Given the description of an element on the screen output the (x, y) to click on. 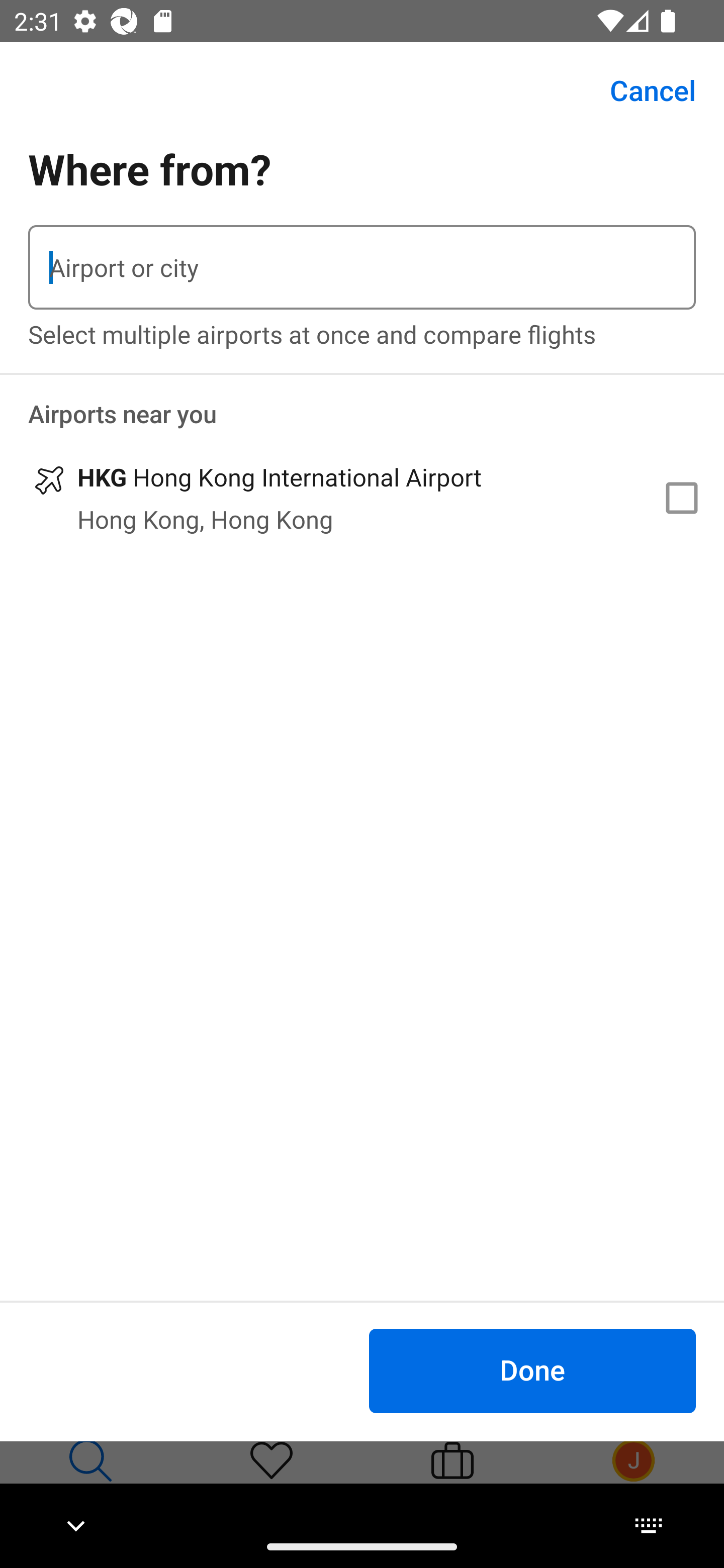
Cancel (641, 90)
Airport or city (361, 266)
Done (532, 1370)
